Given the description of an element on the screen output the (x, y) to click on. 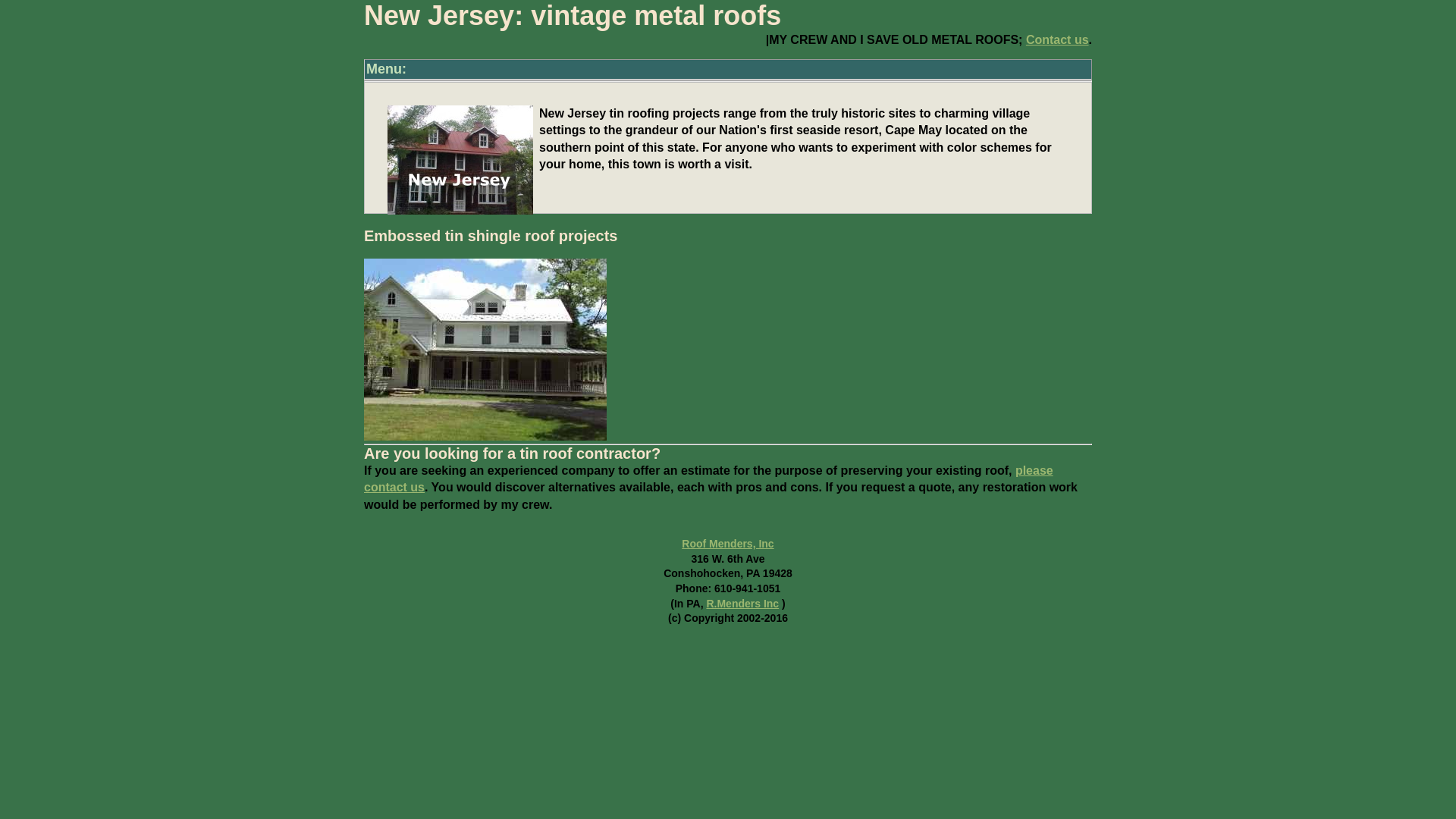
Roof Menders, Inc (727, 543)
R.Menders Inc (742, 603)
please contact us (708, 478)
Contact us (1057, 39)
